Given the description of an element on the screen output the (x, y) to click on. 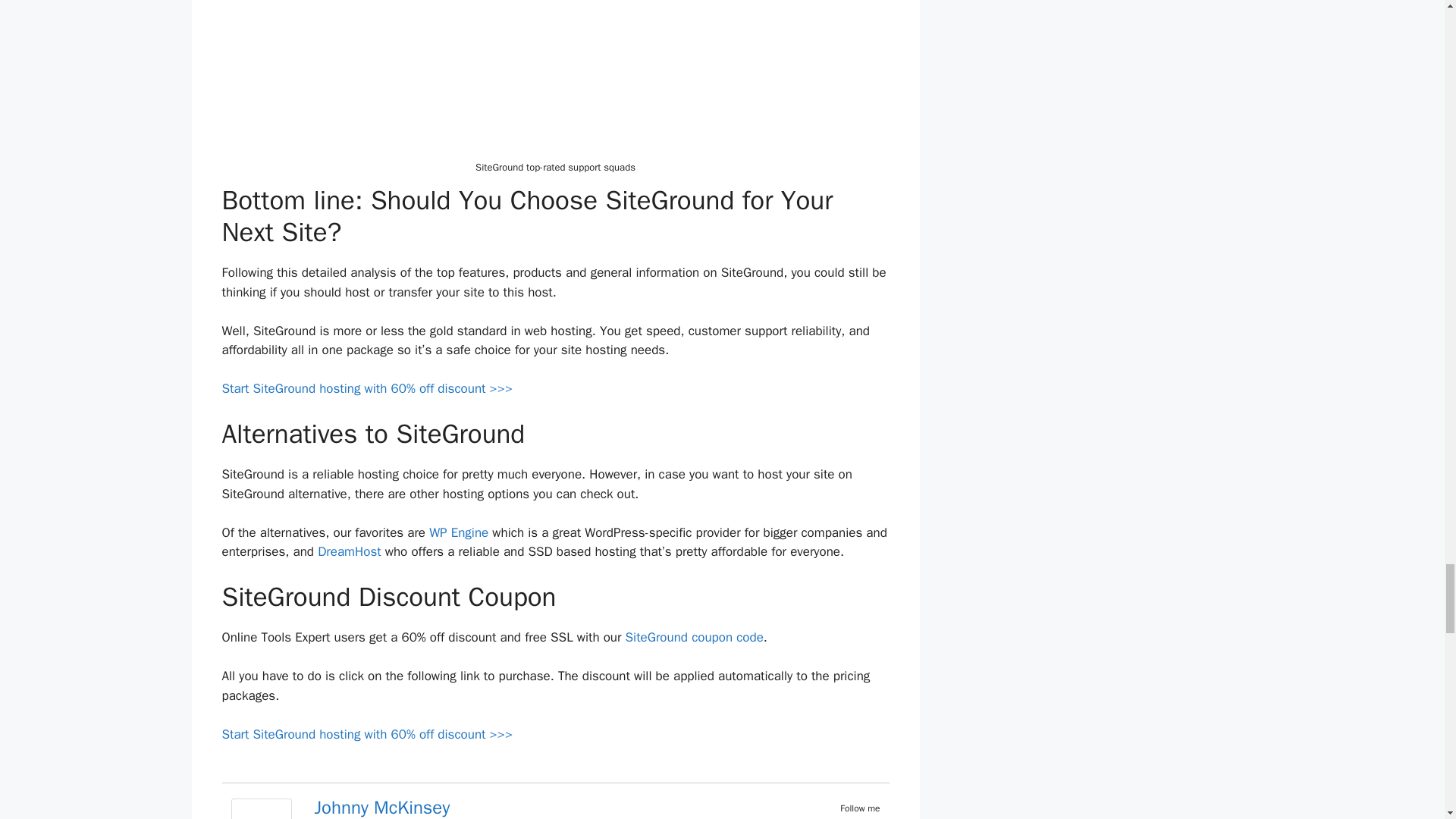
Twitter (870, 817)
Facebook (850, 817)
